Given the description of an element on the screen output the (x, y) to click on. 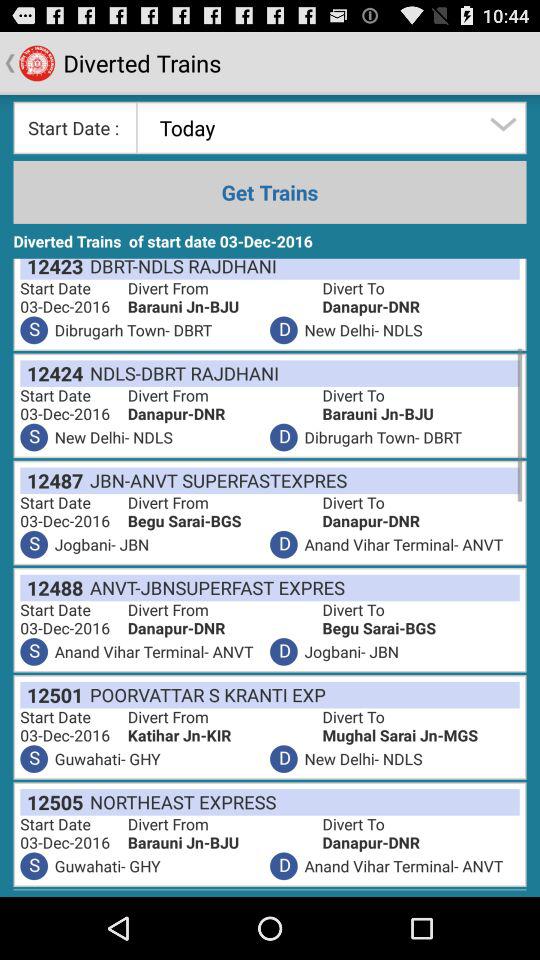
choose app next to divert to item (179, 801)
